Given the description of an element on the screen output the (x, y) to click on. 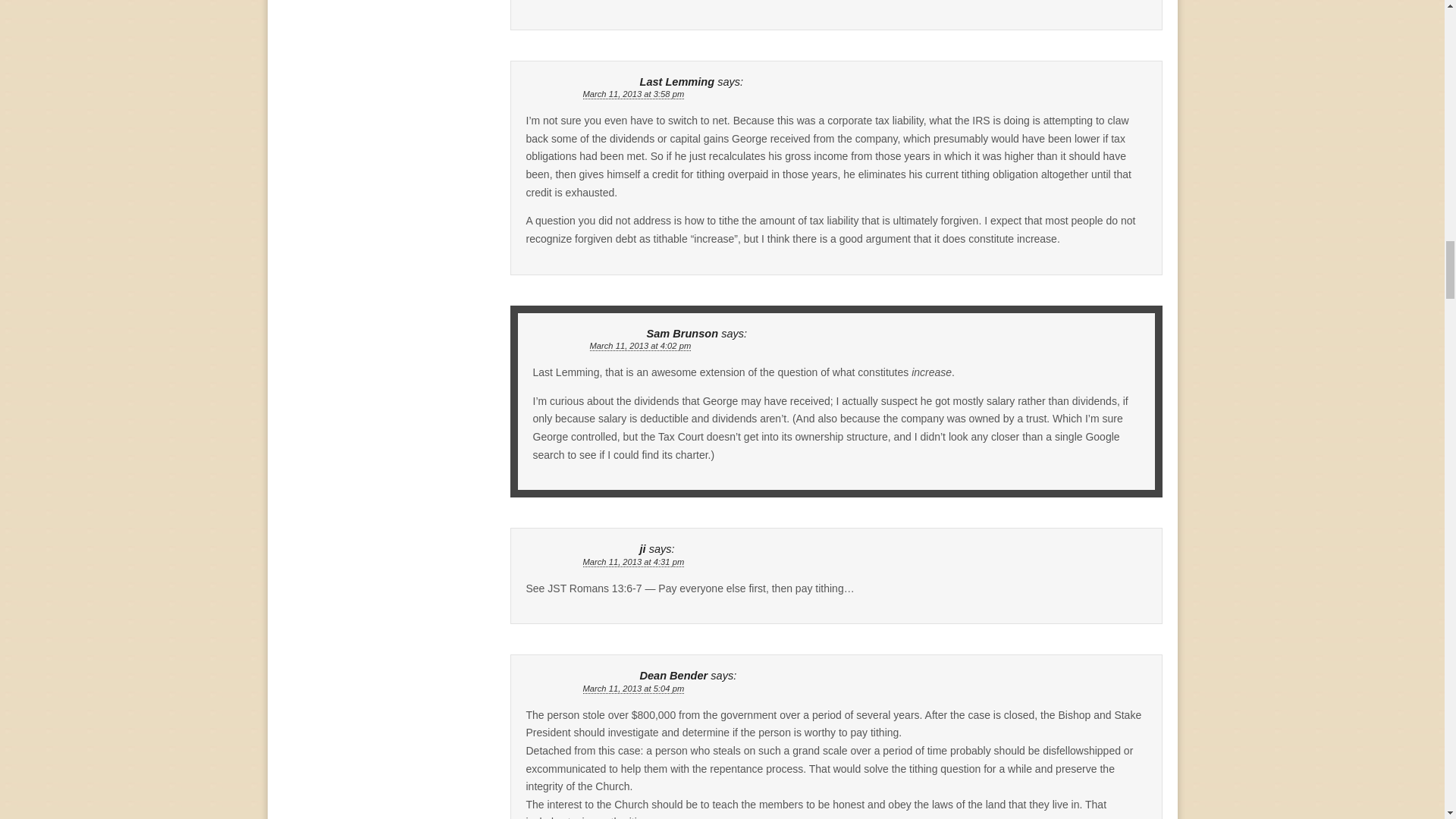
March 11, 2013 at 4:31 pm (633, 562)
March 11, 2013 at 3:58 pm (633, 94)
March 11, 2013 at 4:02 pm (640, 346)
